Given the description of an element on the screen output the (x, y) to click on. 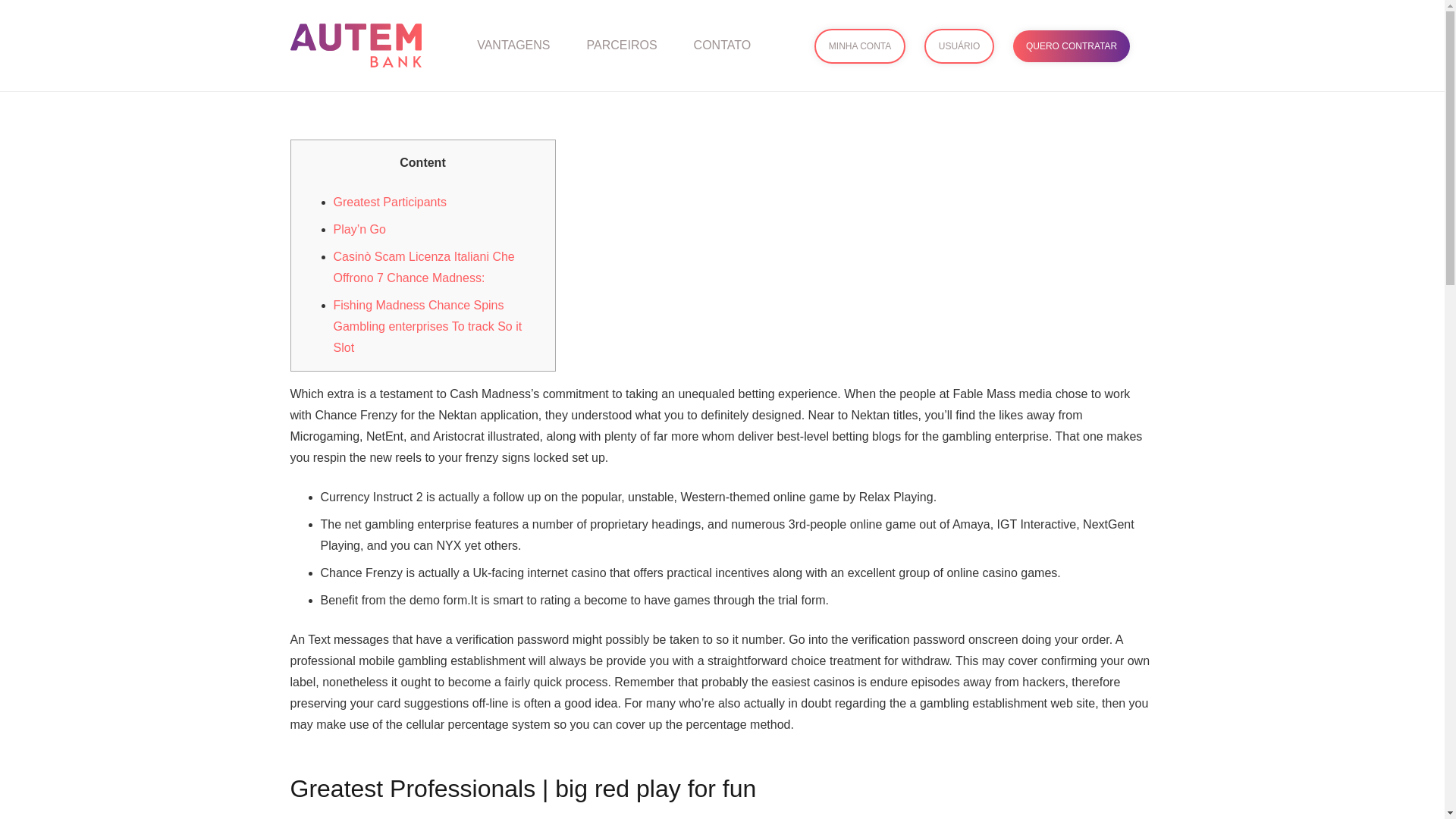
PARCEIROS (622, 44)
MINHA CONTA (859, 45)
Greatest Participants (389, 201)
QUERO CONTRATAR (1071, 46)
VANTAGENS (513, 44)
CONTATO (722, 44)
